Given the description of an element on the screen output the (x, y) to click on. 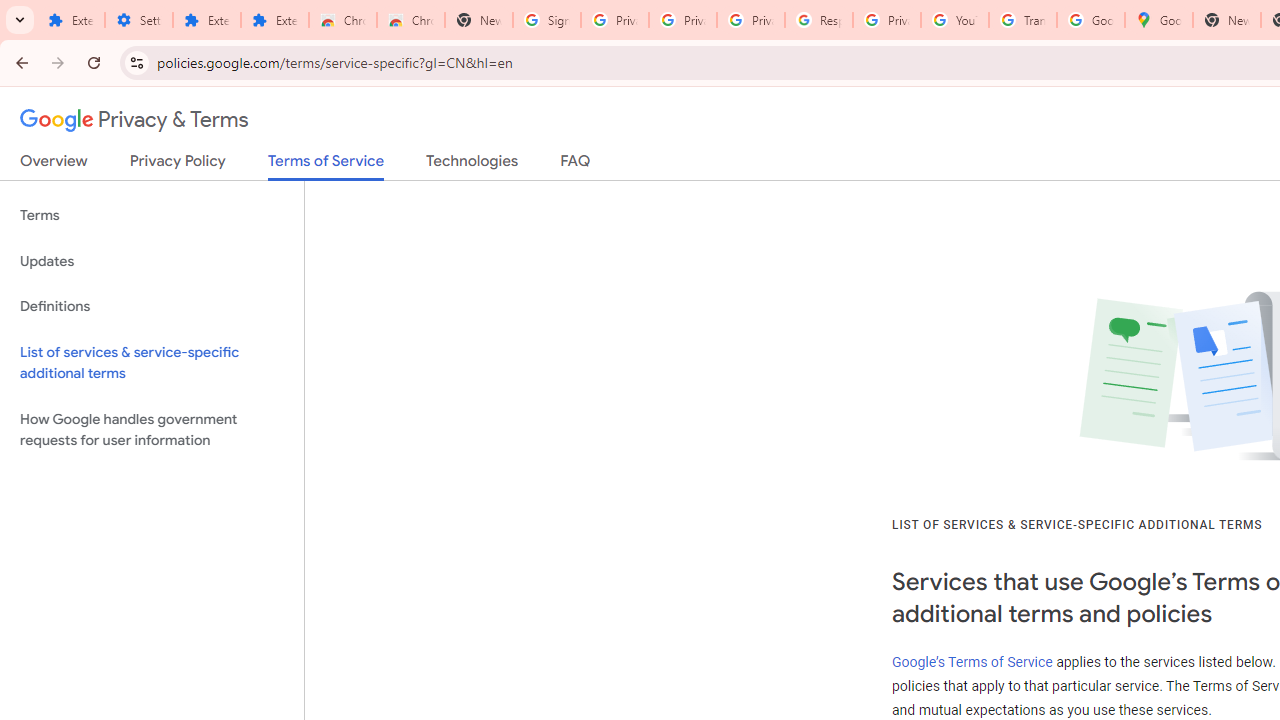
Google Maps (1158, 20)
Chrome Web Store - Themes (411, 20)
Extensions (206, 20)
New Tab (1226, 20)
New Tab (479, 20)
